Given the description of an element on the screen output the (x, y) to click on. 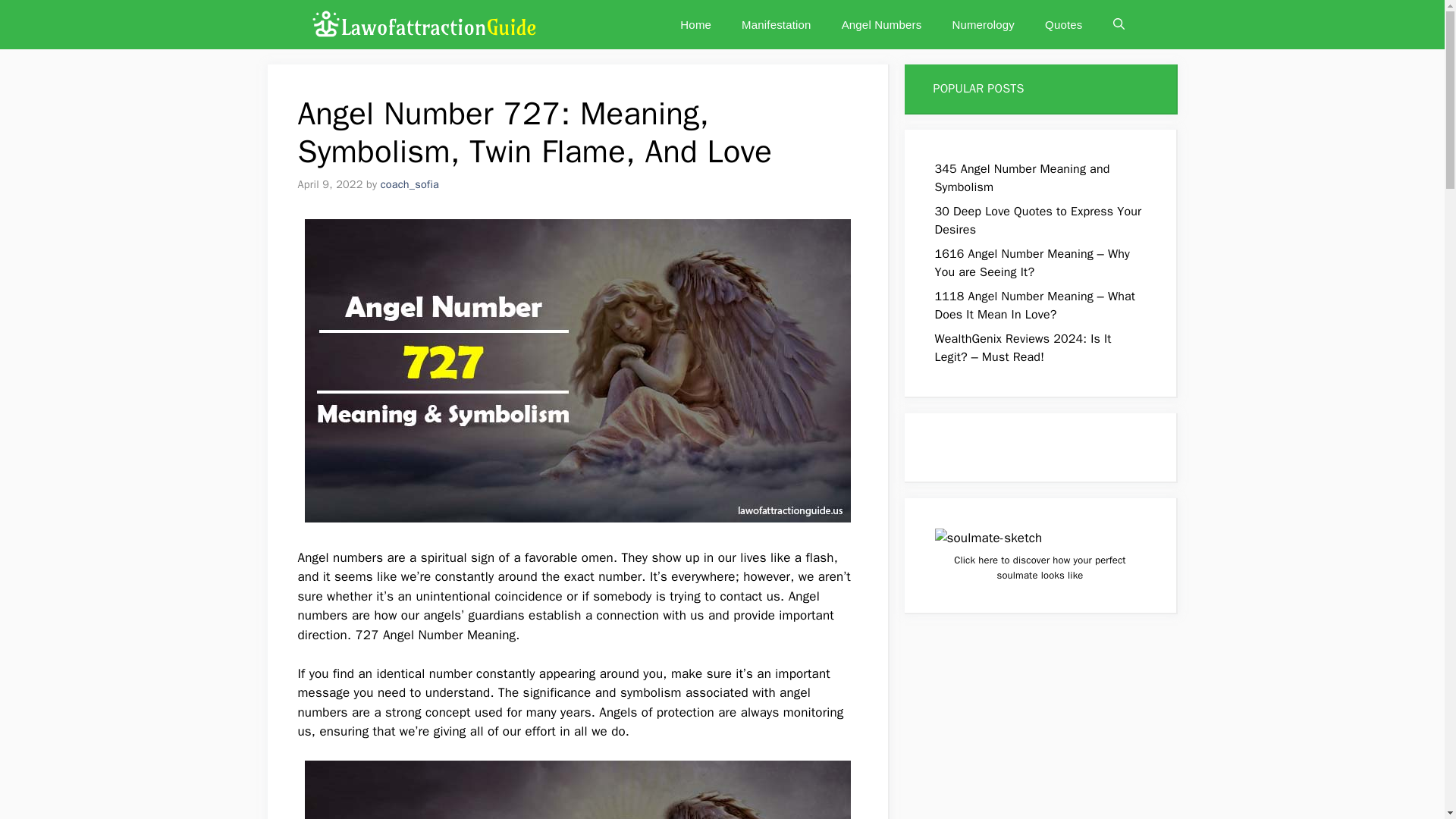
Quotes (1063, 23)
Manifestation (776, 23)
345 Angel Number Meaning and Symbolism (1021, 177)
Click here to discover how your perfect soulmate looks like (1039, 567)
30 Deep Love Quotes to Express Your Desires (1037, 220)
Law of Attraction Guide (422, 24)
Angel Numbers (882, 23)
Angel Number 727: Meaning, Symbolism, Twin Flame, And Love (577, 789)
Home (695, 23)
